Given the description of an element on the screen output the (x, y) to click on. 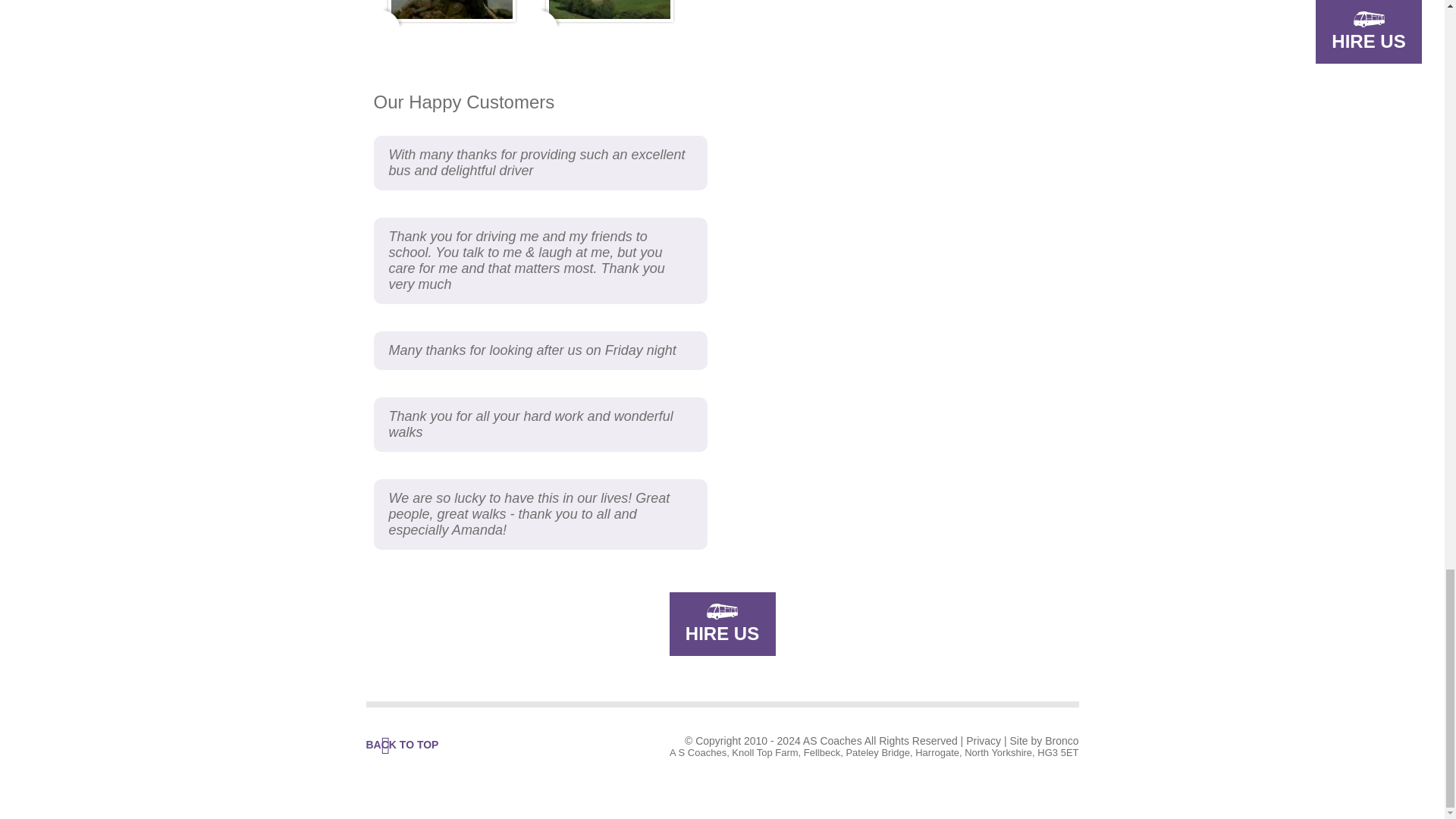
Privacy (983, 740)
Bronco (1061, 740)
BACK TO TOP (401, 744)
HIRE US (721, 624)
